Given the description of an element on the screen output the (x, y) to click on. 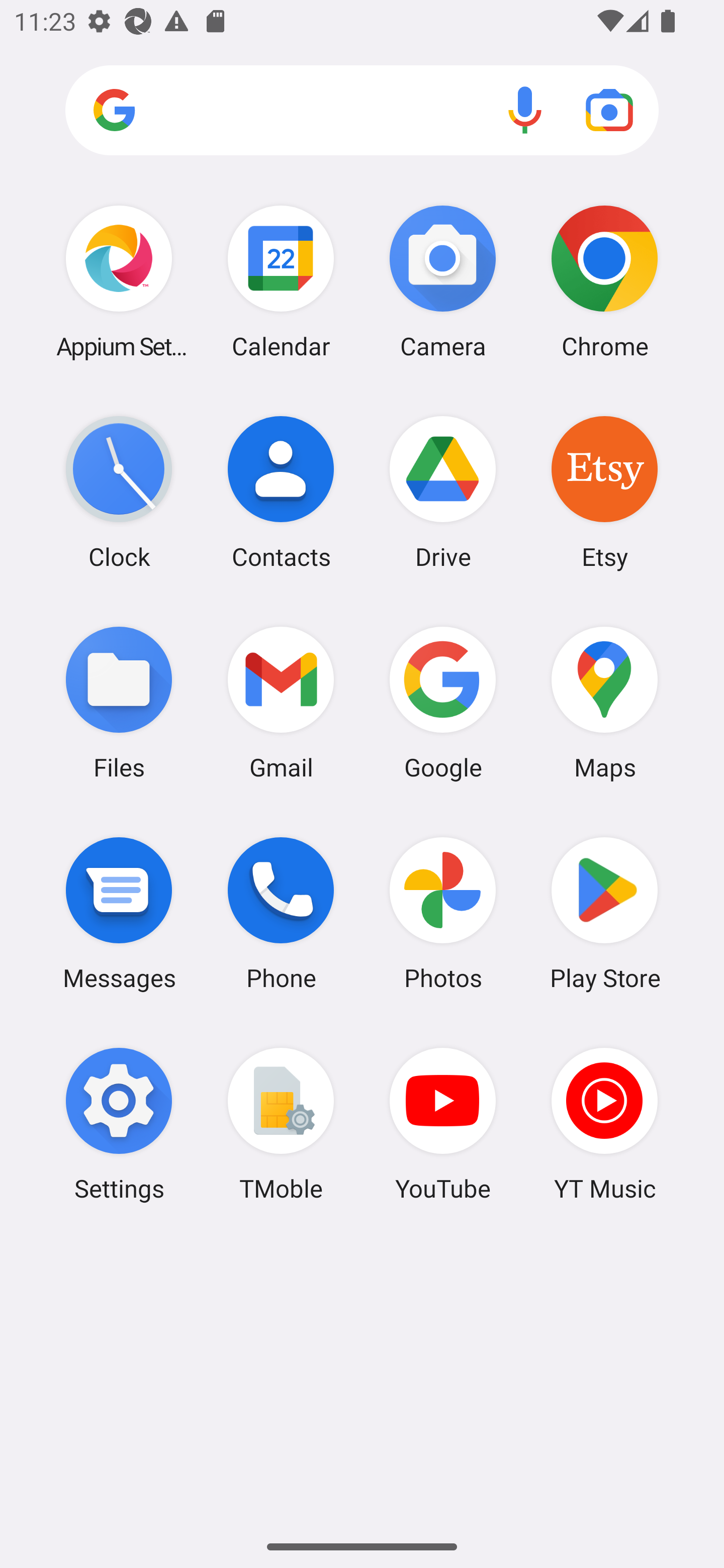
Search apps, web and more (361, 110)
Voice search (524, 109)
Google Lens (608, 109)
Appium Settings (118, 281)
Calendar (280, 281)
Camera (443, 281)
Chrome (604, 281)
Clock (118, 492)
Contacts (280, 492)
Drive (443, 492)
Etsy (604, 492)
Files (118, 702)
Gmail (280, 702)
Google (443, 702)
Maps (604, 702)
Messages (118, 913)
Phone (280, 913)
Photos (443, 913)
Play Store (604, 913)
Settings (118, 1124)
TMoble (280, 1124)
YouTube (443, 1124)
YT Music (604, 1124)
